Given the description of an element on the screen output the (x, y) to click on. 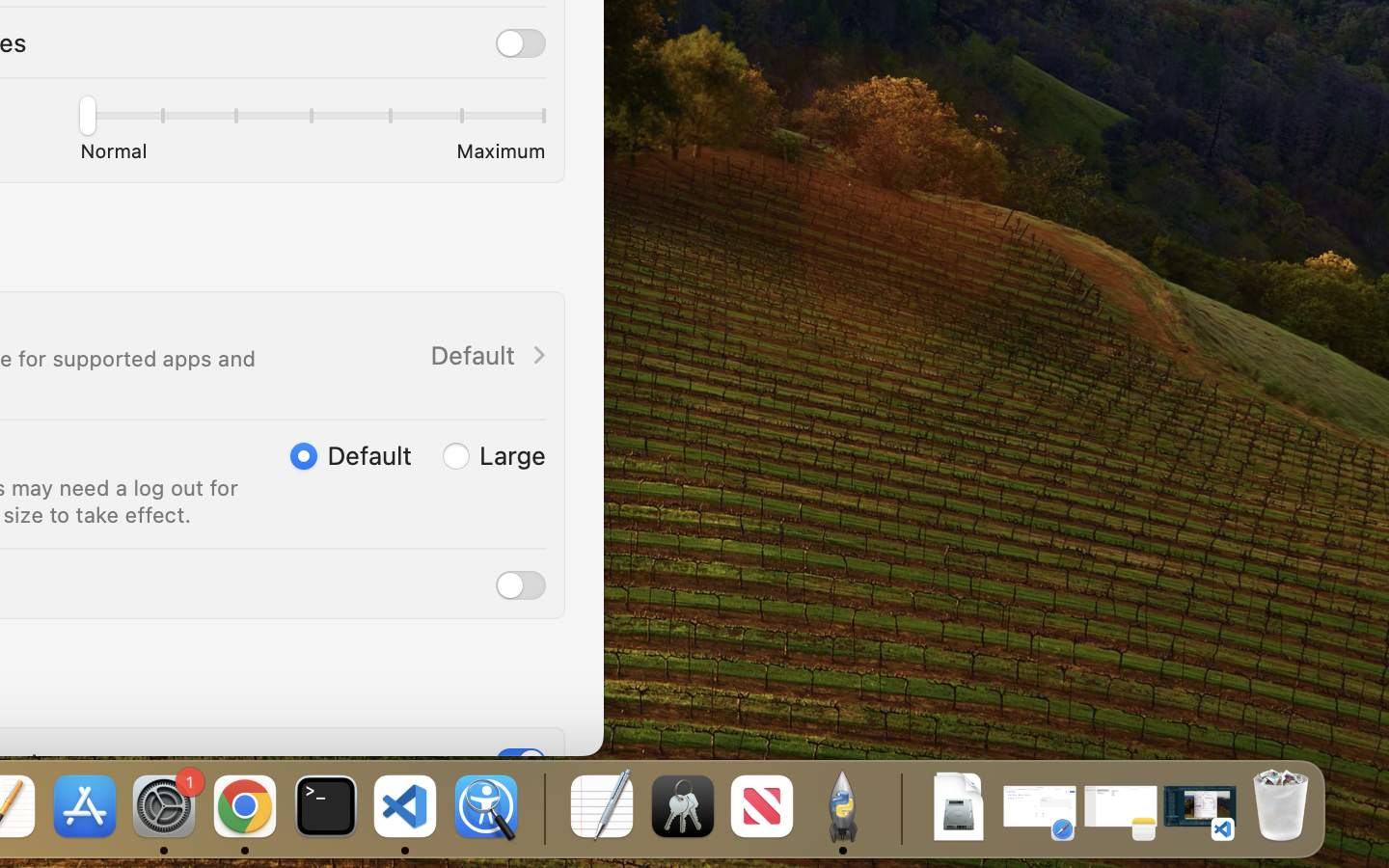
1 Element type: AXRadioButton (349, 454)
0.0 Element type: AXSlider (311, 119)
0.4285714328289032 Element type: AXDockItem (541, 807)
